Given the description of an element on the screen output the (x, y) to click on. 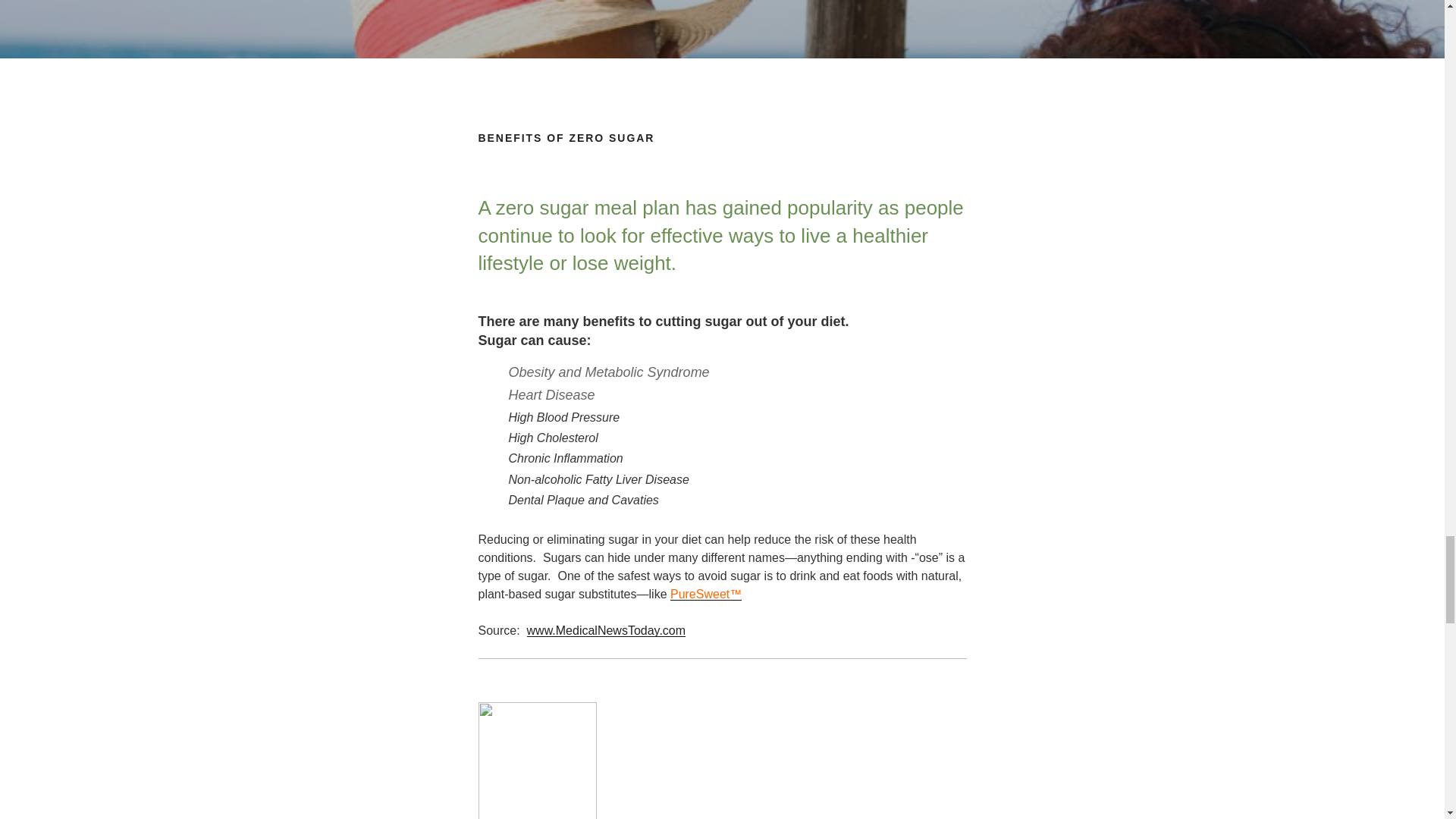
www.MedicalNewsToday.com (606, 630)
